Given the description of an element on the screen output the (x, y) to click on. 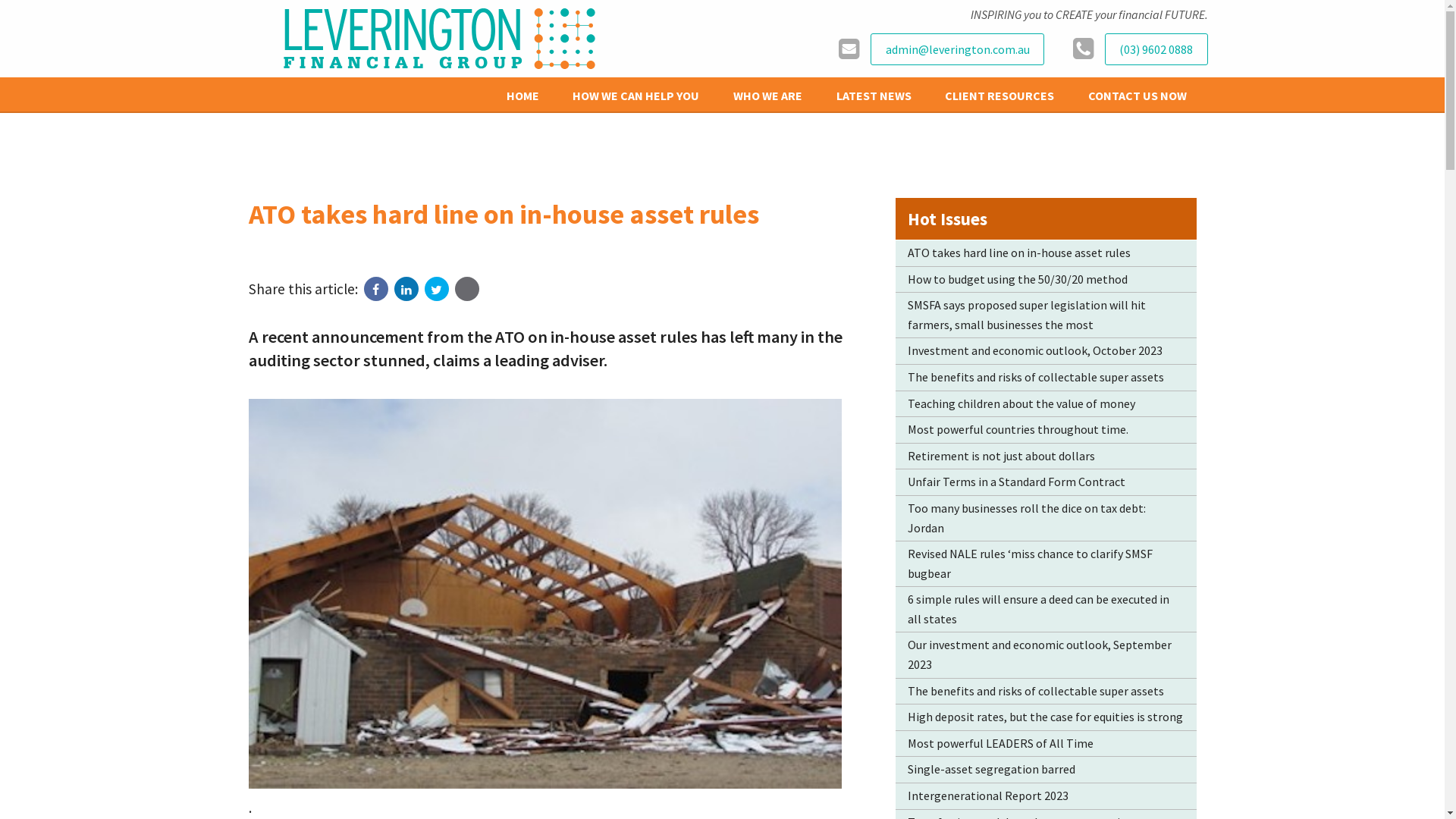
CLIENT RESOURCES Element type: text (999, 95)
CONTACT US NOW Element type: text (1137, 95)
HOME Element type: text (522, 95)
Too many businesses roll the dice on tax debt: Jordan Element type: text (1045, 517)
Most powerful countries throughout time. Element type: text (1045, 429)
WHO WE ARE Element type: text (767, 95)
Intergenerational Report 2023 Element type: text (1045, 796)
How to budget using the 50/30/20 method Element type: text (1045, 279)
LATEST NEWS Element type: text (873, 95)
Investment and economic outlook, October 2023 Element type: text (1045, 351)
Teaching children about the value of money Element type: text (1045, 404)
ATO takes hard line on in-house asset rules Element type: text (1045, 253)
The benefits and risks of collectable super assets Element type: text (1045, 691)
The benefits and risks of collectable super assets Element type: text (1045, 377)
Single-asset segregation barred Element type: text (1045, 769)
Our investment and economic outlook, September 2023 Element type: text (1045, 654)
Retirement is not just about dollars Element type: text (1045, 456)
(03) 9602 0888 Element type: text (1156, 49)
Unfair Terms in a Standard Form Contract Element type: text (1045, 482)
Most powerful LEADERS of All Time Element type: text (1045, 743)
HOW WE CAN HELP YOU Element type: text (636, 95)
admin@leverington.com.au Element type: text (957, 49)
High deposit rates, but the case for equities is strong Element type: text (1045, 717)
